Given the description of an element on the screen output the (x, y) to click on. 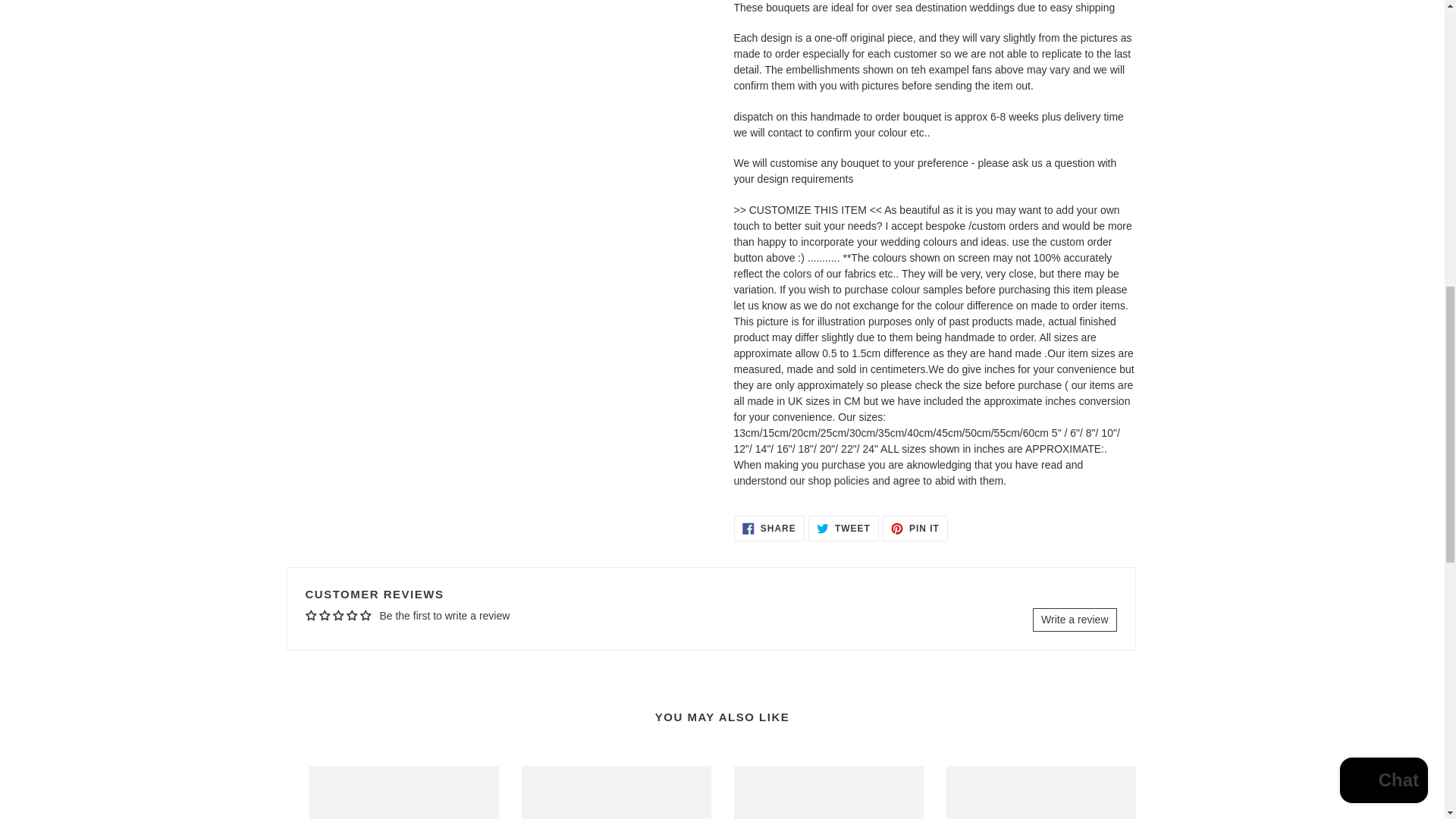
Write a review (843, 528)
